Given the description of an element on the screen output the (x, y) to click on. 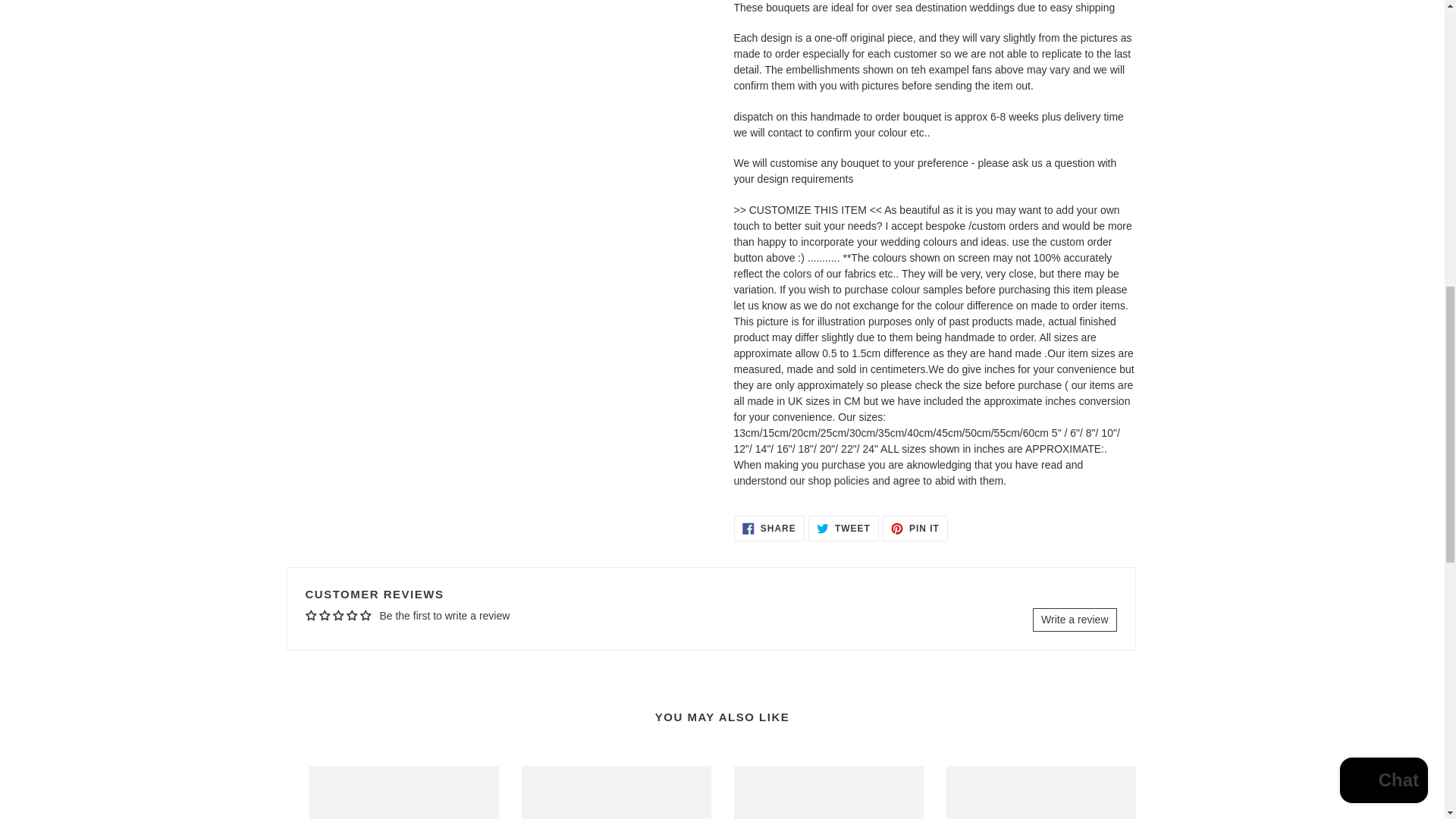
Write a review (843, 528)
